Given the description of an element on the screen output the (x, y) to click on. 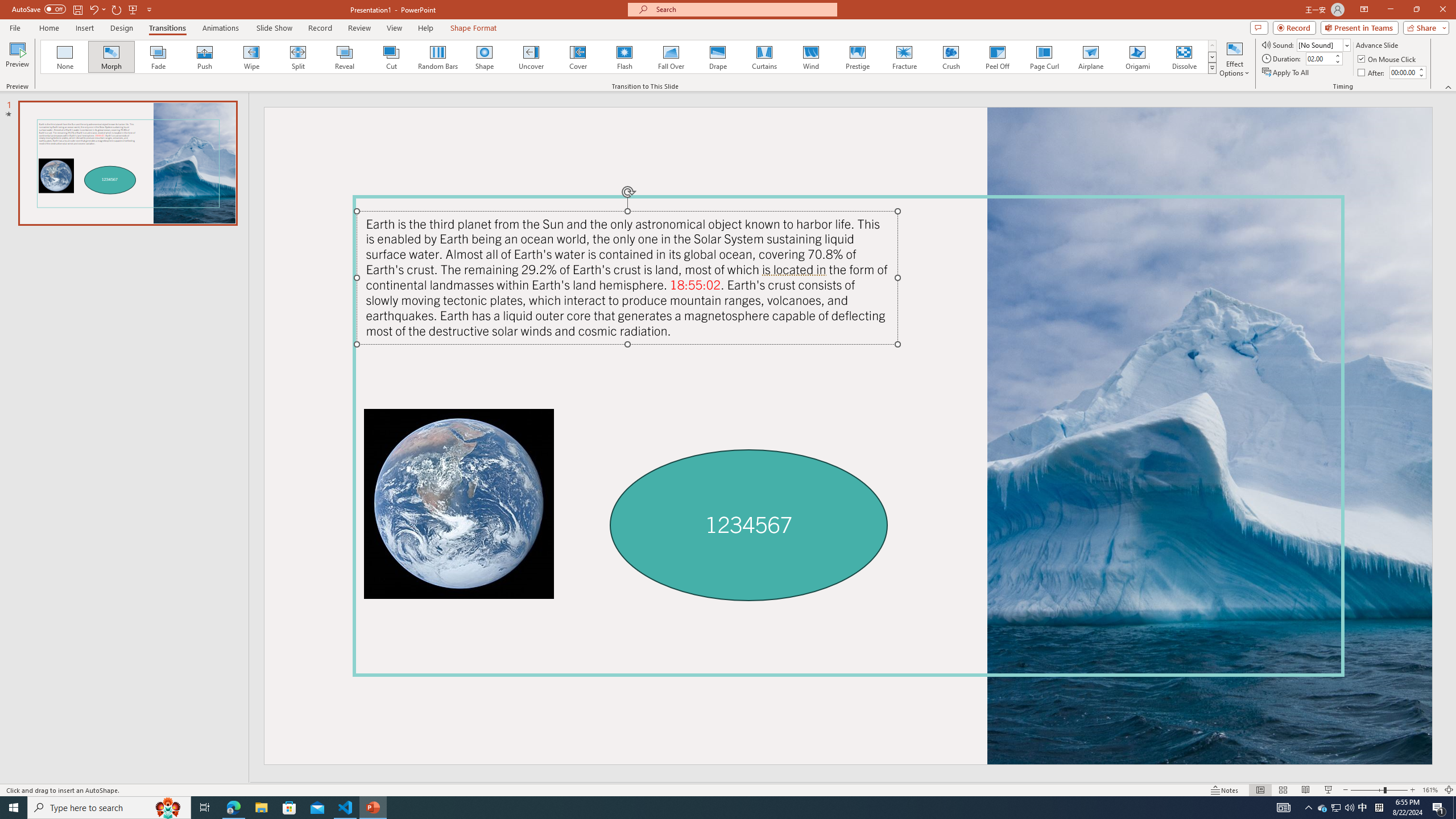
AutomationID: AnimationTransitionGallery (628, 56)
Zoom 161% (1430, 790)
Flash (624, 56)
